Given the description of an element on the screen output the (x, y) to click on. 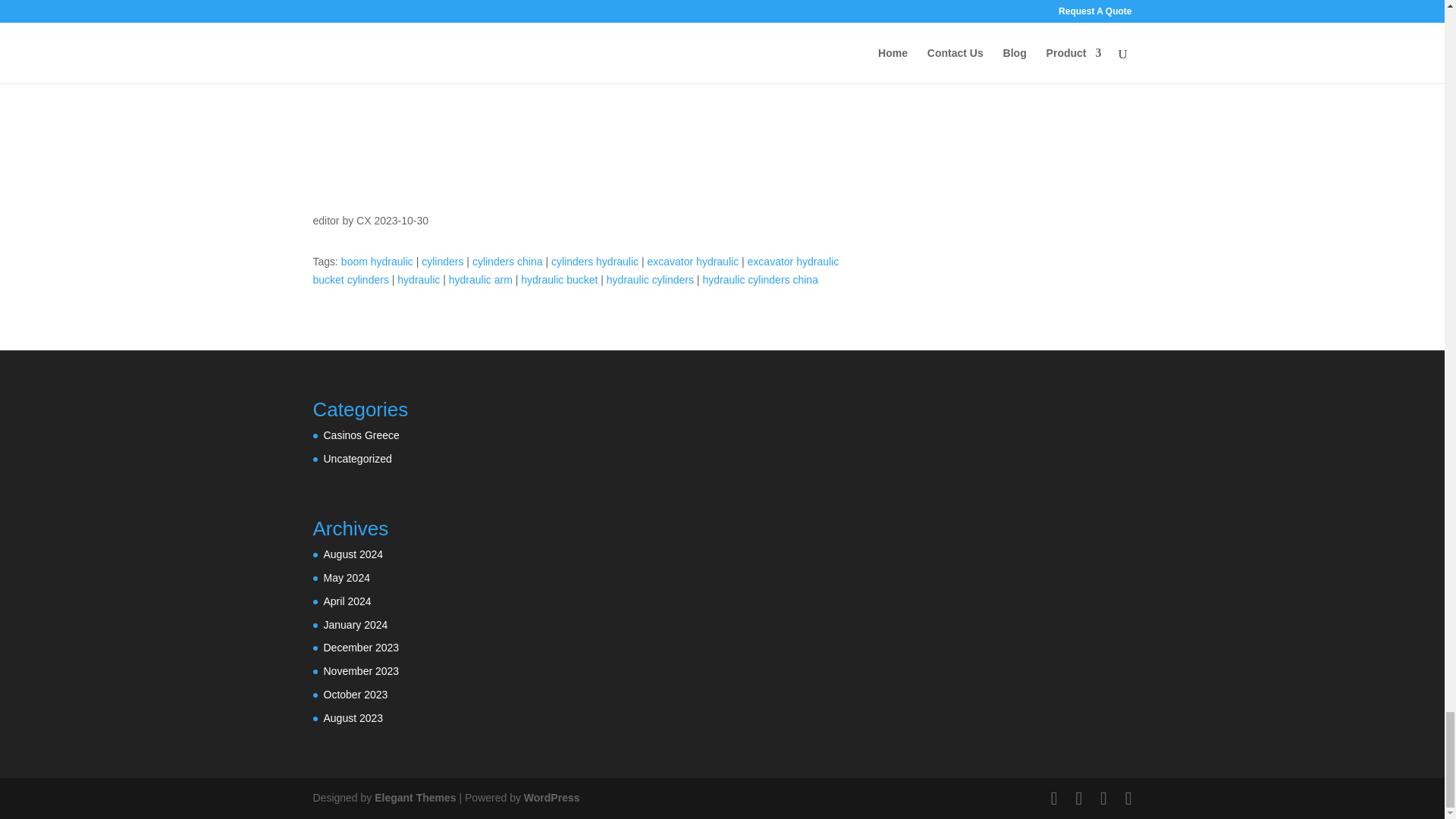
excavator hydraulic bucket cylinders (575, 270)
boom hydraulic (376, 261)
cylinders china (507, 261)
May 2024 (346, 577)
November 2023 (360, 671)
Casinos Greece (360, 435)
Uncategorized (357, 458)
April 2024 (347, 601)
cylinders (442, 261)
hydraulic arm (480, 279)
